Given the description of an element on the screen output the (x, y) to click on. 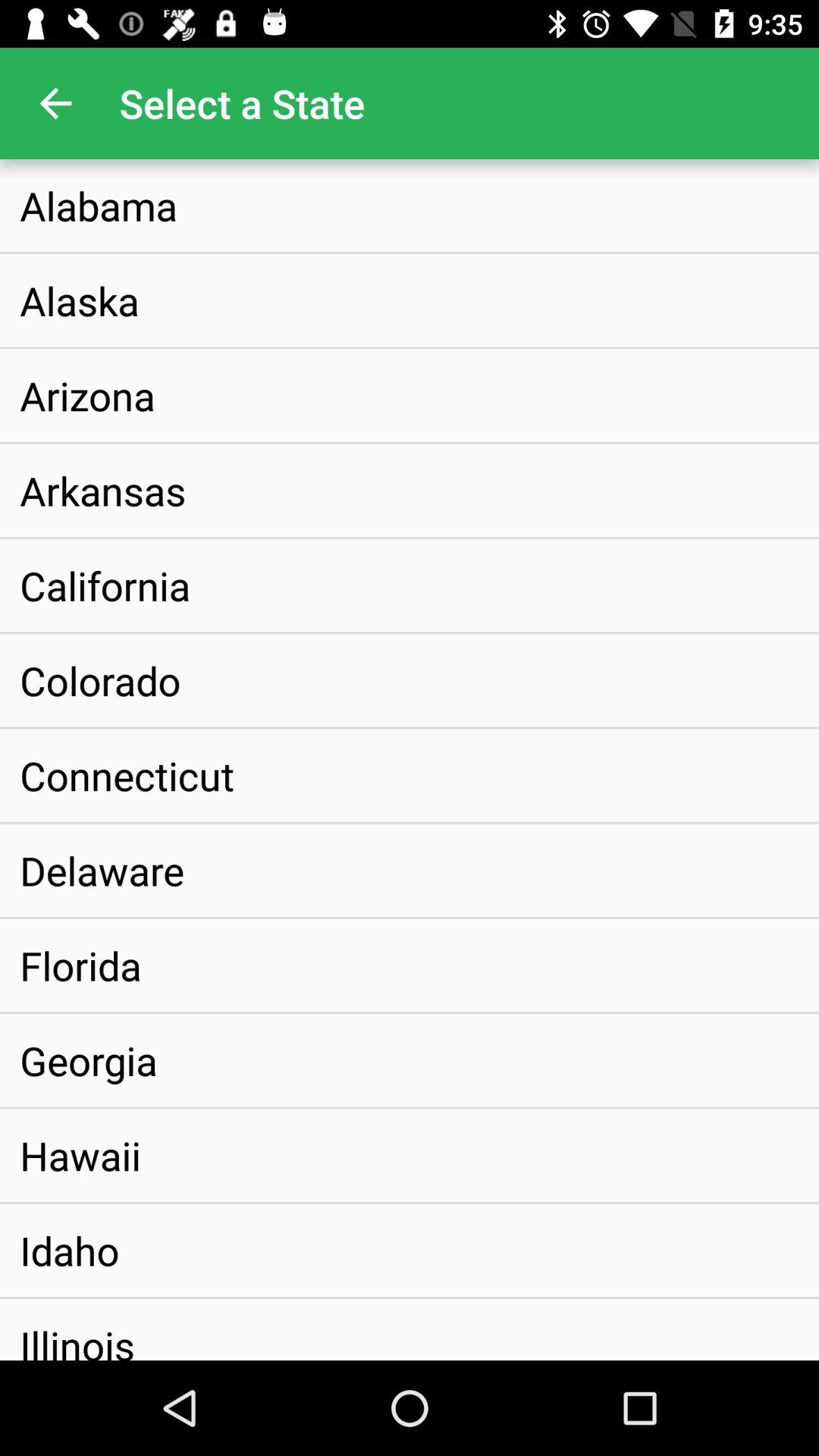
turn off the florida item (80, 965)
